Given the description of an element on the screen output the (x, y) to click on. 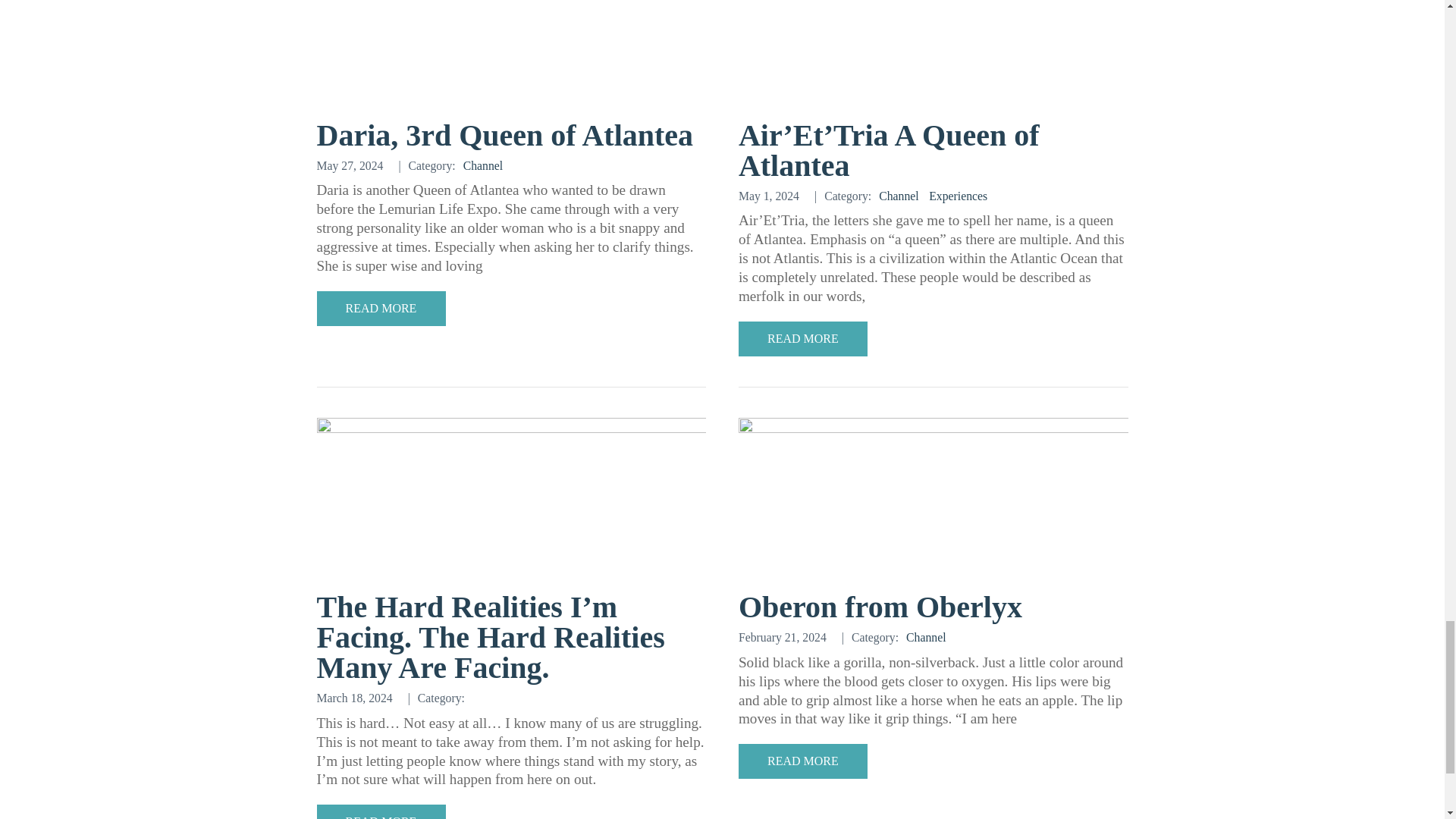
Oberon from Oberlyx (880, 606)
Daria, 3rd Queen of Atlantea (505, 134)
Channel (898, 195)
READ MORE (802, 338)
READ MORE (802, 760)
Experiences (957, 195)
READ MORE (381, 811)
Channel (925, 636)
READ MORE (381, 308)
Channel (483, 164)
